Given the description of an element on the screen output the (x, y) to click on. 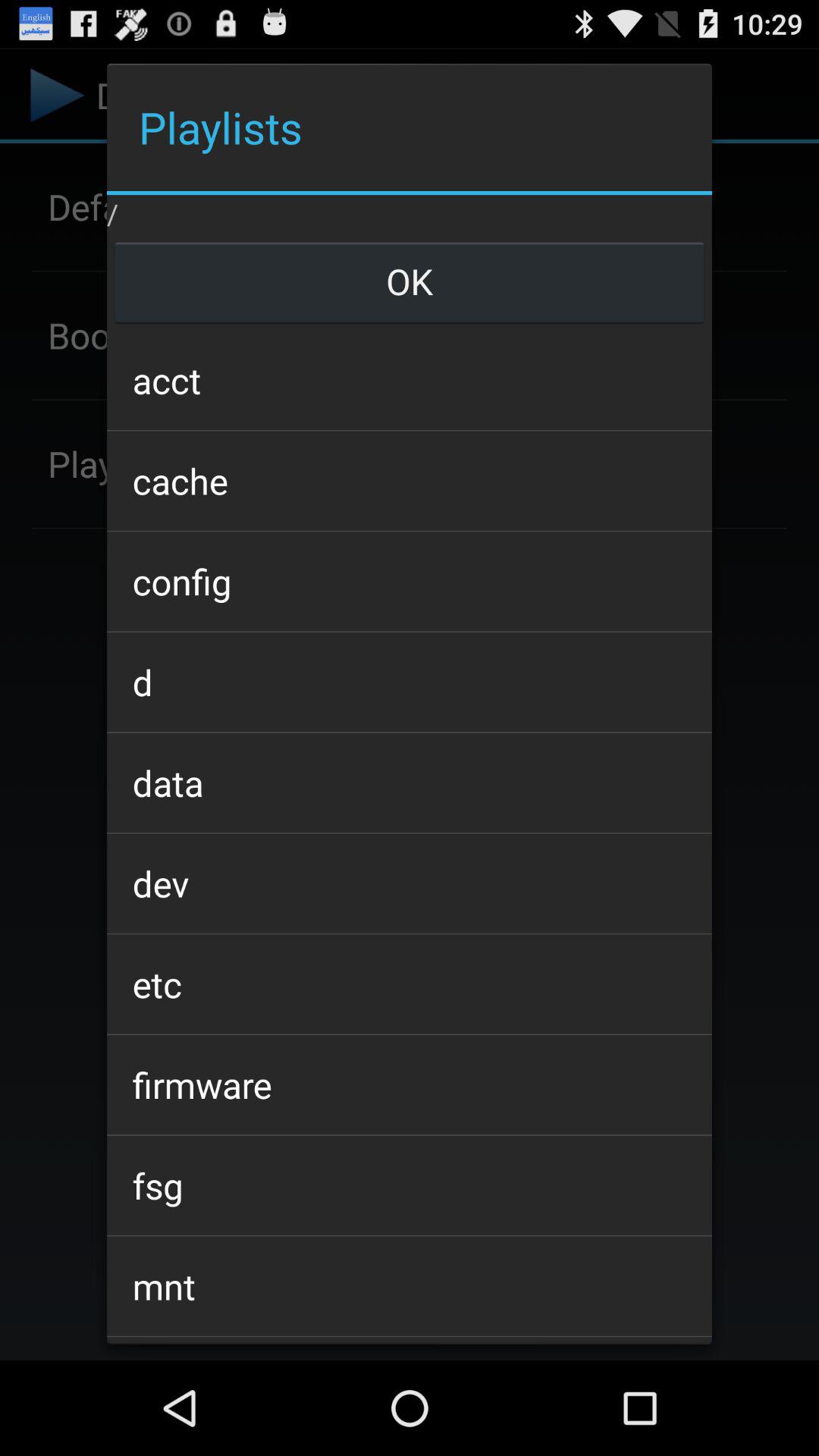
turn on fsg icon (409, 1185)
